Given the description of an element on the screen output the (x, y) to click on. 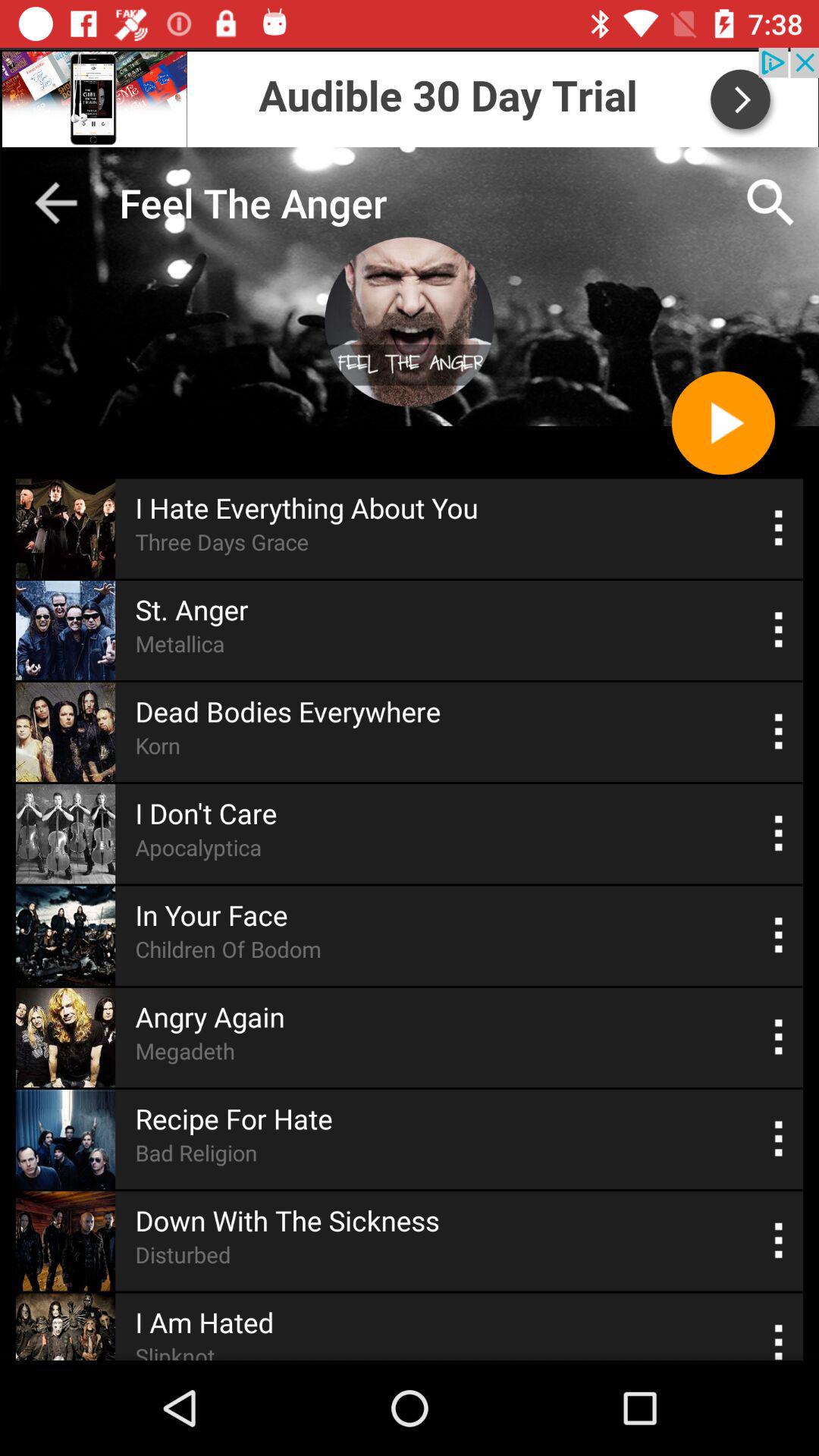
play playlist (723, 422)
